Given the description of an element on the screen output the (x, y) to click on. 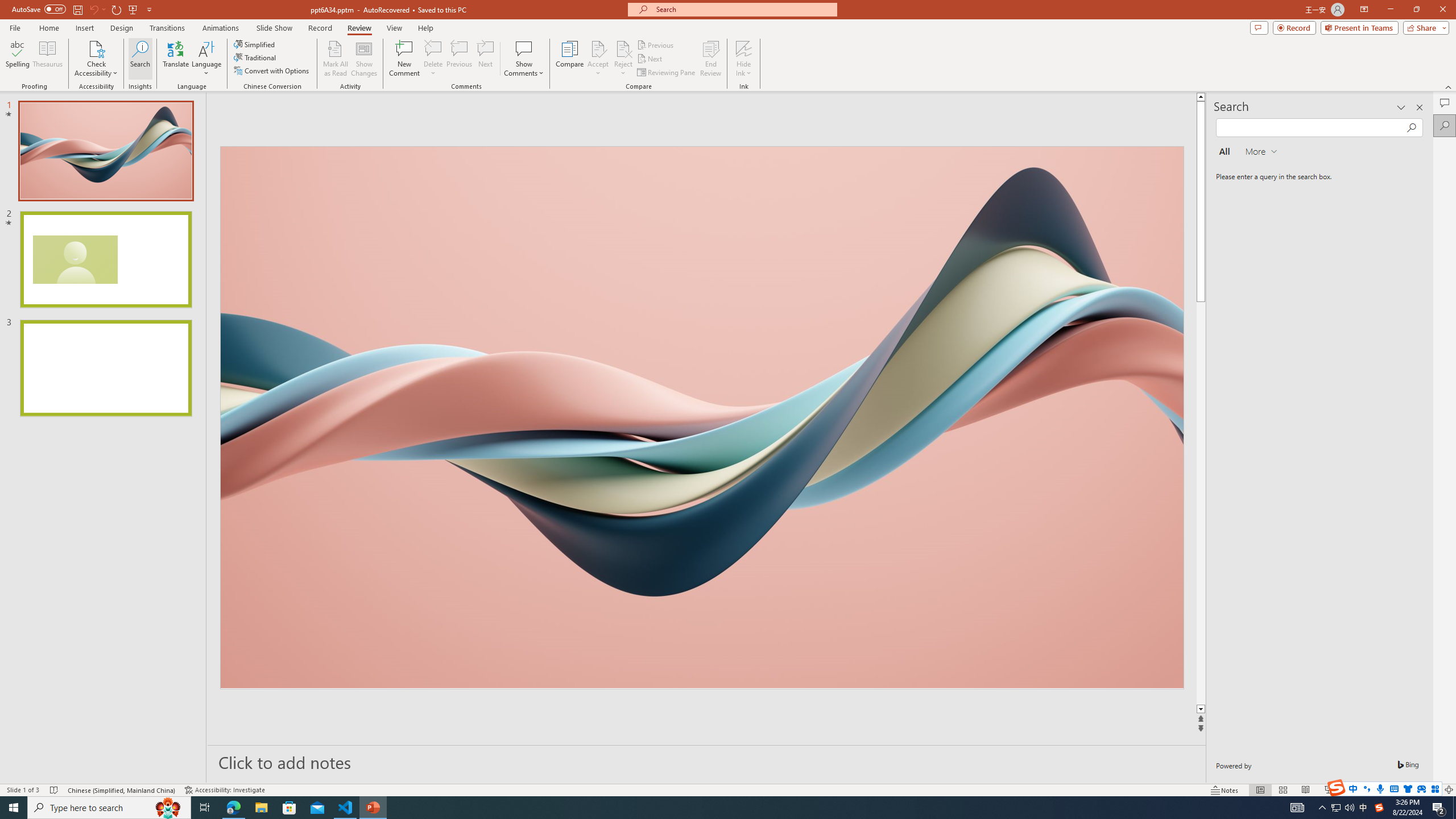
Reject (622, 58)
Reject Change (622, 48)
Delete (432, 48)
